Given the description of an element on the screen output the (x, y) to click on. 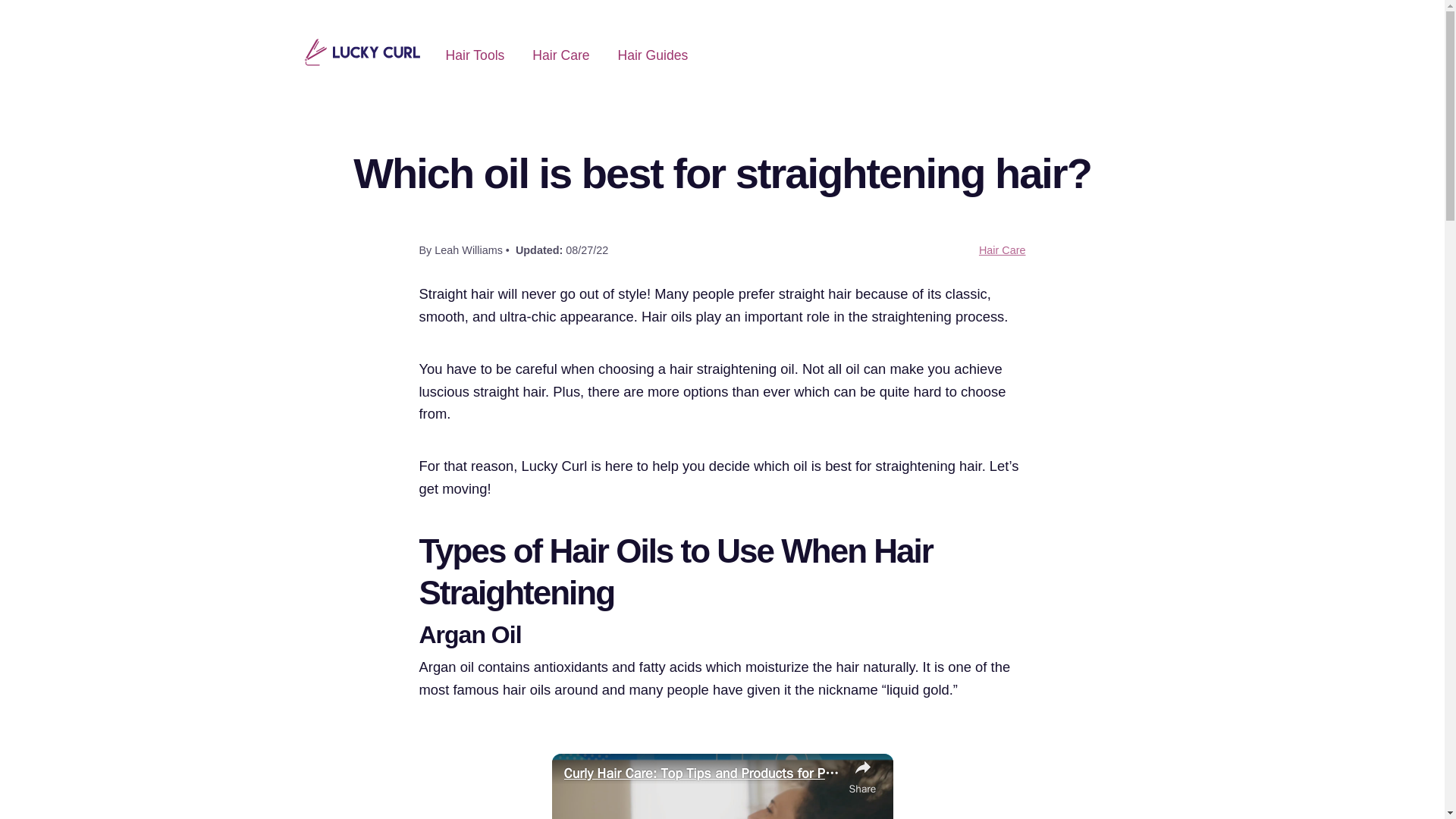
Curly Hair Care: Top Tips and Products for Perfect Curls (702, 773)
Hair Tools (475, 55)
Hair Guides (652, 55)
Hair Care (560, 55)
Hair Care (1002, 250)
